Given the description of an element on the screen output the (x, y) to click on. 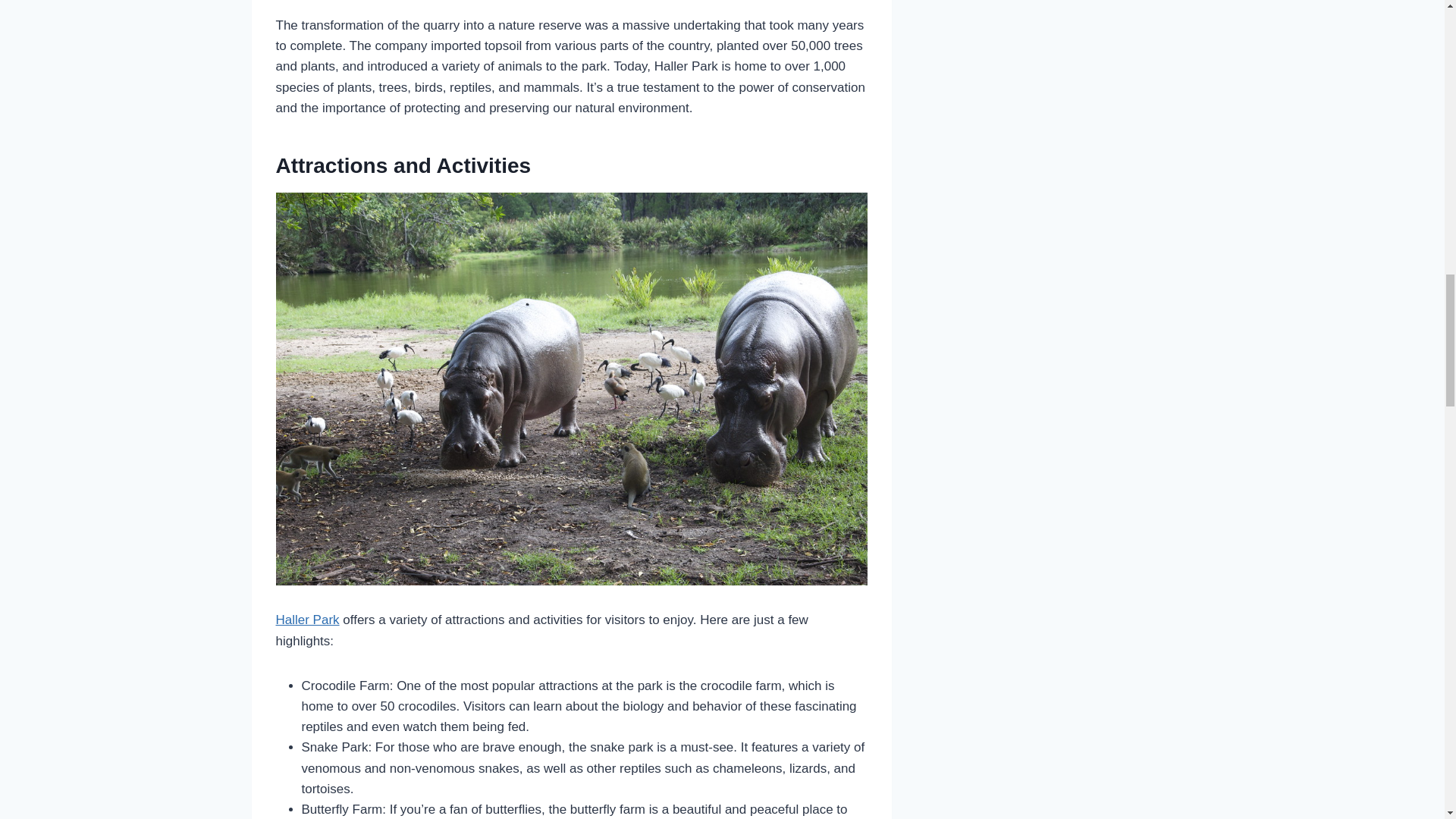
Haller Park (307, 619)
